Given the description of an element on the screen output the (x, y) to click on. 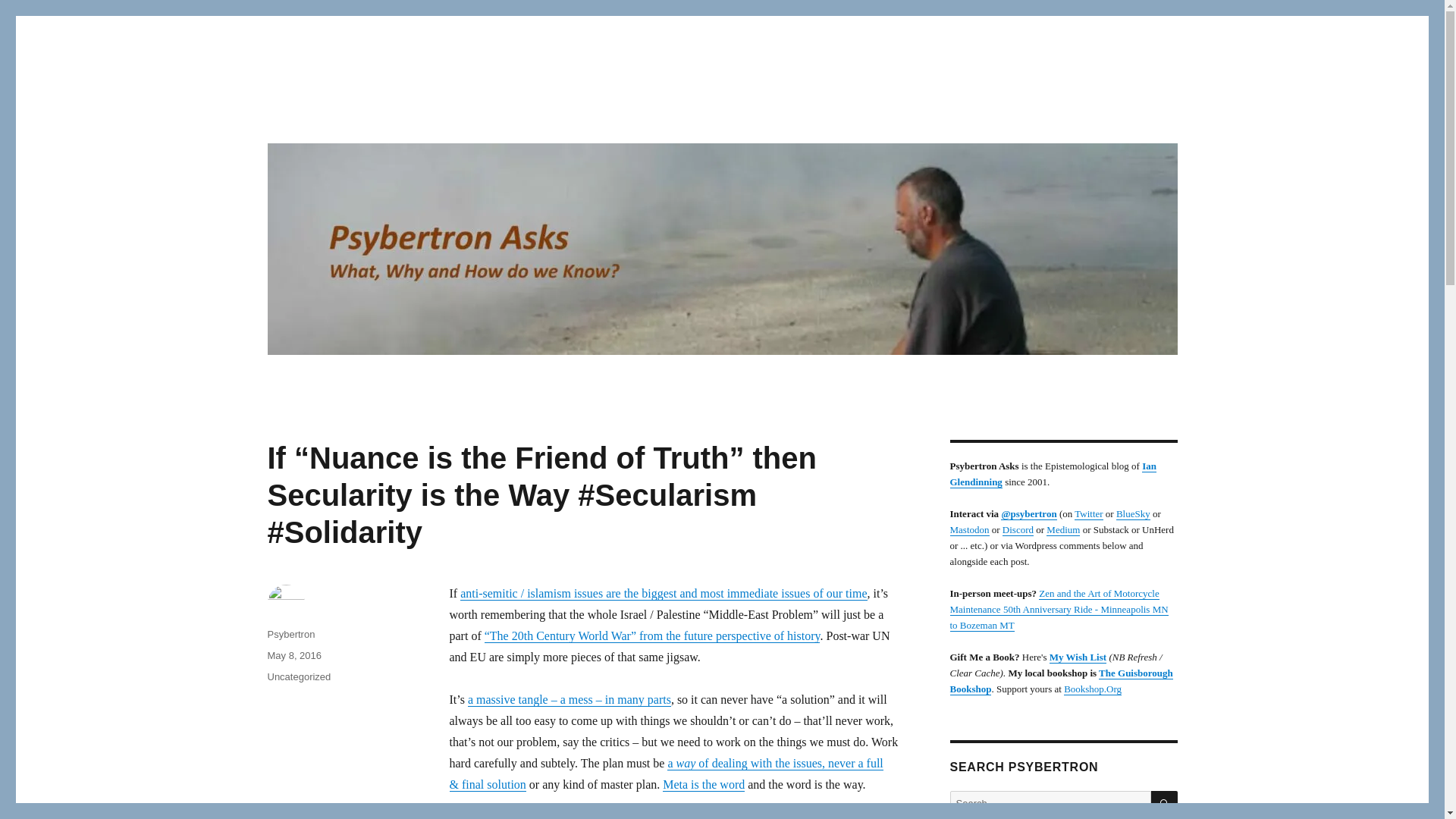
Discord (1018, 529)
May 8, 2016 (293, 655)
The Guisborough Bookshop (1060, 680)
Psybertron (290, 633)
Meta is the word (703, 784)
SEARCH (1164, 804)
Psybertron Asks (350, 114)
Uncategorized (298, 676)
Bookshop.Org (1092, 688)
Ian Glendinning (1052, 473)
My Wish List (1077, 656)
Twitter (1088, 513)
Medium (1063, 529)
BlueSky (1133, 513)
Mastodon (968, 529)
